Given the description of an element on the screen output the (x, y) to click on. 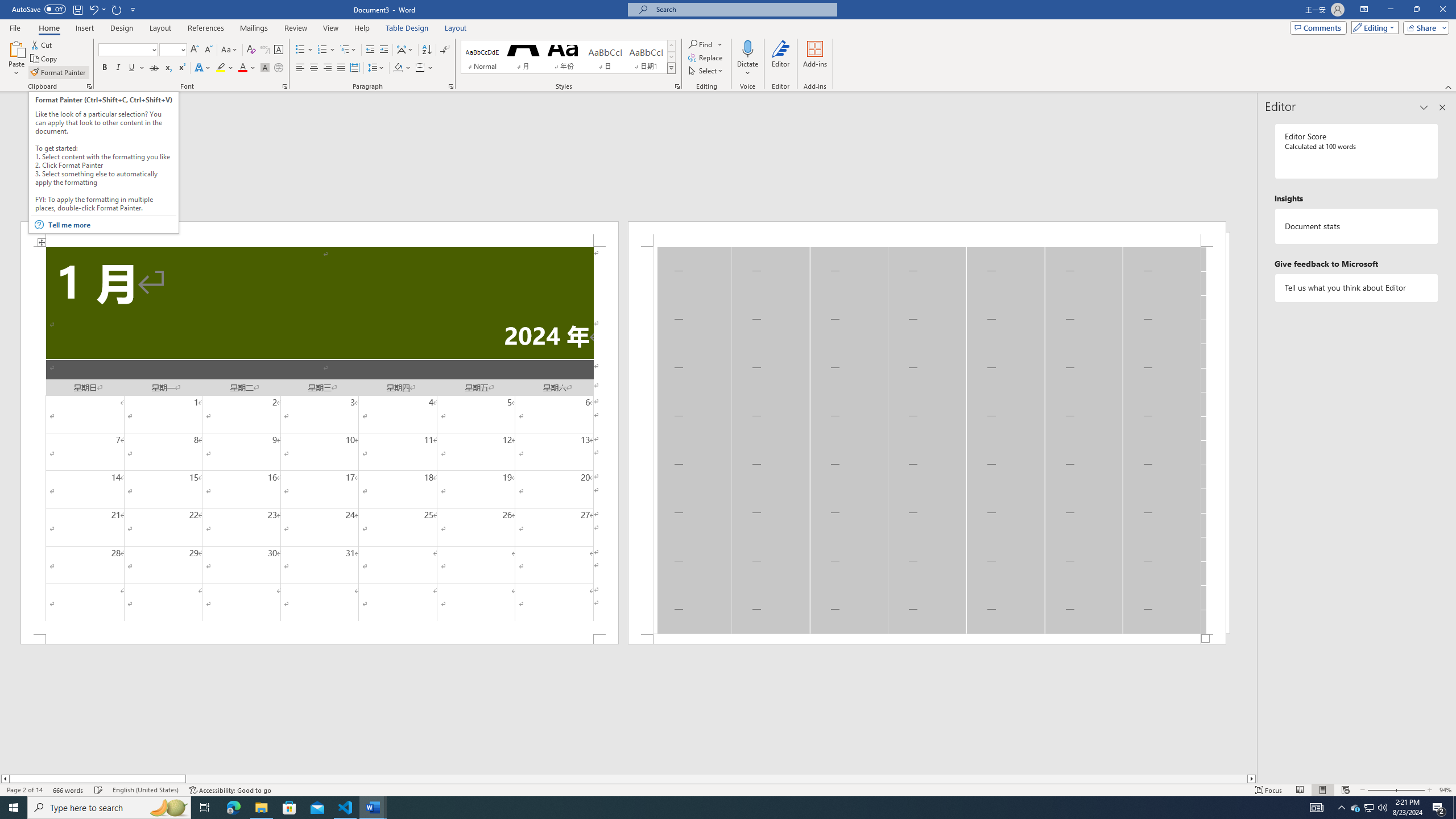
Styles... (676, 85)
Class: MsoCommandBar (728, 789)
Distributed (354, 67)
Italic (118, 67)
Replace... (705, 56)
Paragraph... (450, 85)
Shrink Font (208, 49)
